Given the description of an element on the screen output the (x, y) to click on. 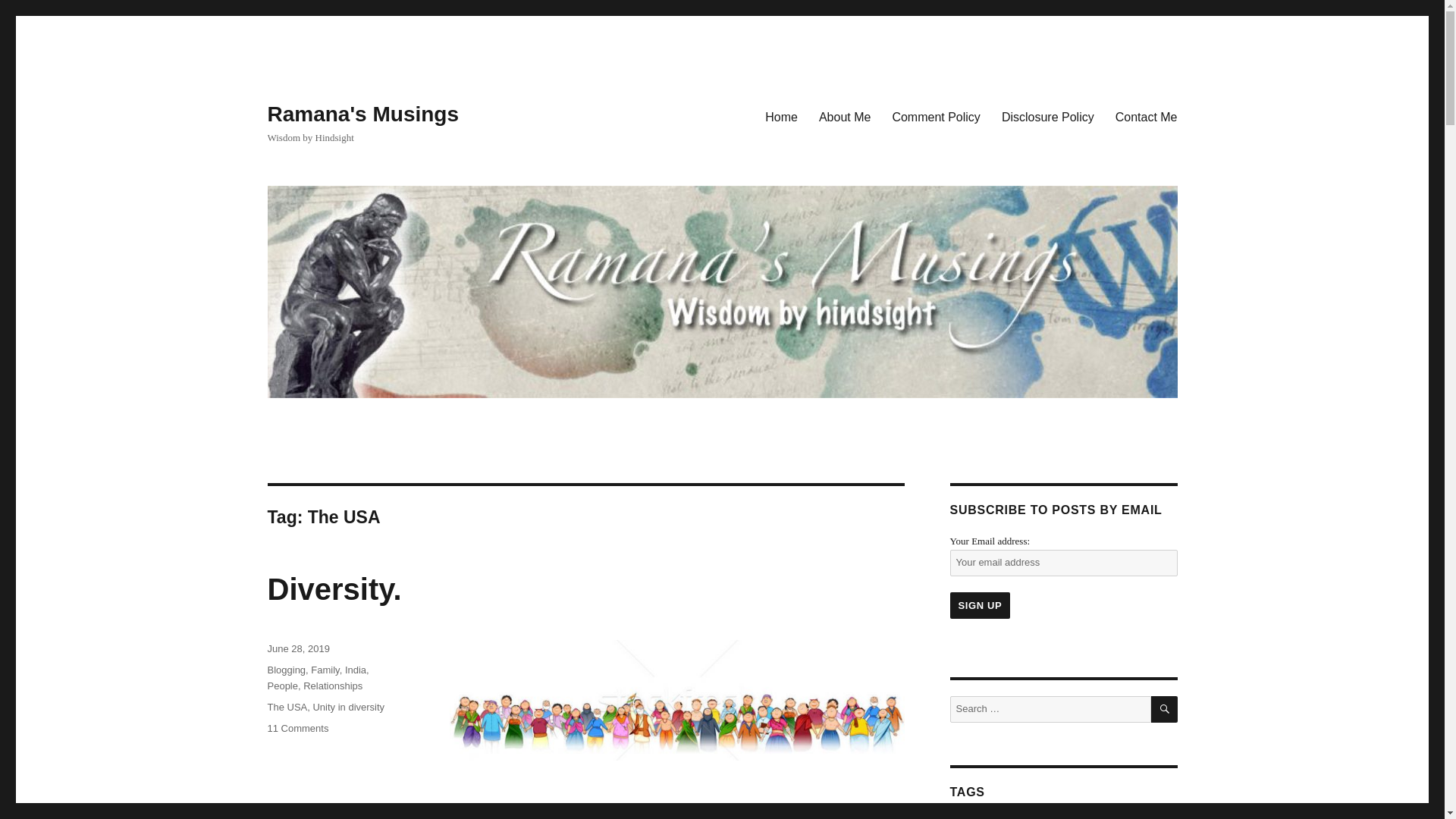
Sign up (979, 605)
The USA (286, 706)
India (355, 669)
Diversity. (333, 589)
Family (325, 669)
About Me (844, 116)
Unity in diversity (348, 706)
Contact Me (1146, 116)
Comment Policy (935, 116)
Home (781, 116)
Disclosure Policy (1048, 116)
Ramana's Musings (362, 114)
People (281, 685)
Relationships (332, 685)
